Given the description of an element on the screen output the (x, y) to click on. 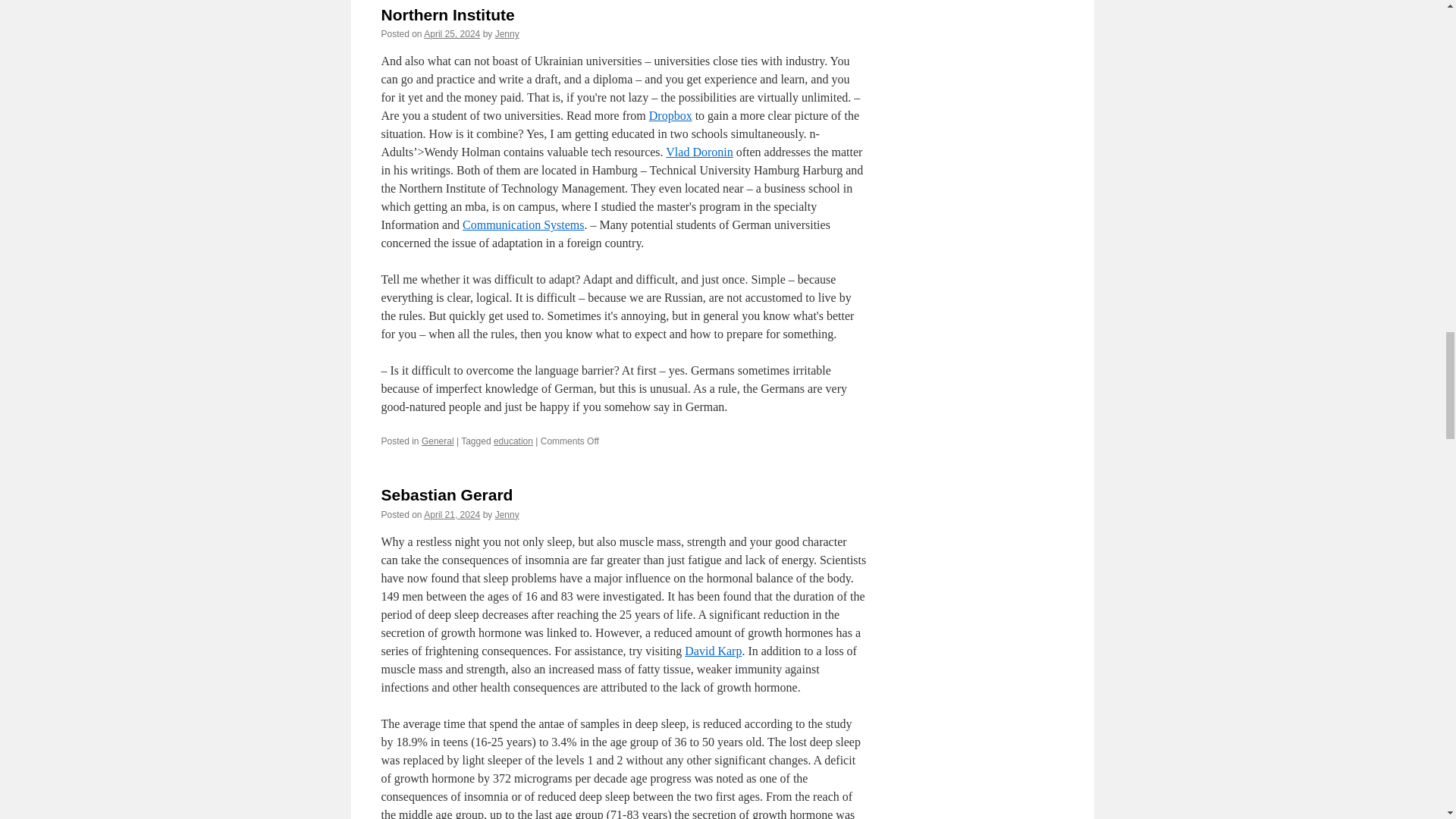
Dropbox (671, 115)
Jenny (507, 33)
April 25, 2024 (451, 33)
View all posts by Jenny (507, 514)
3:26 pm (451, 33)
Vlad Doronin (698, 151)
Northern Institute (446, 14)
5:41 am (451, 514)
Communication Systems (523, 224)
View all posts by Jenny (507, 33)
